Given the description of an element on the screen output the (x, y) to click on. 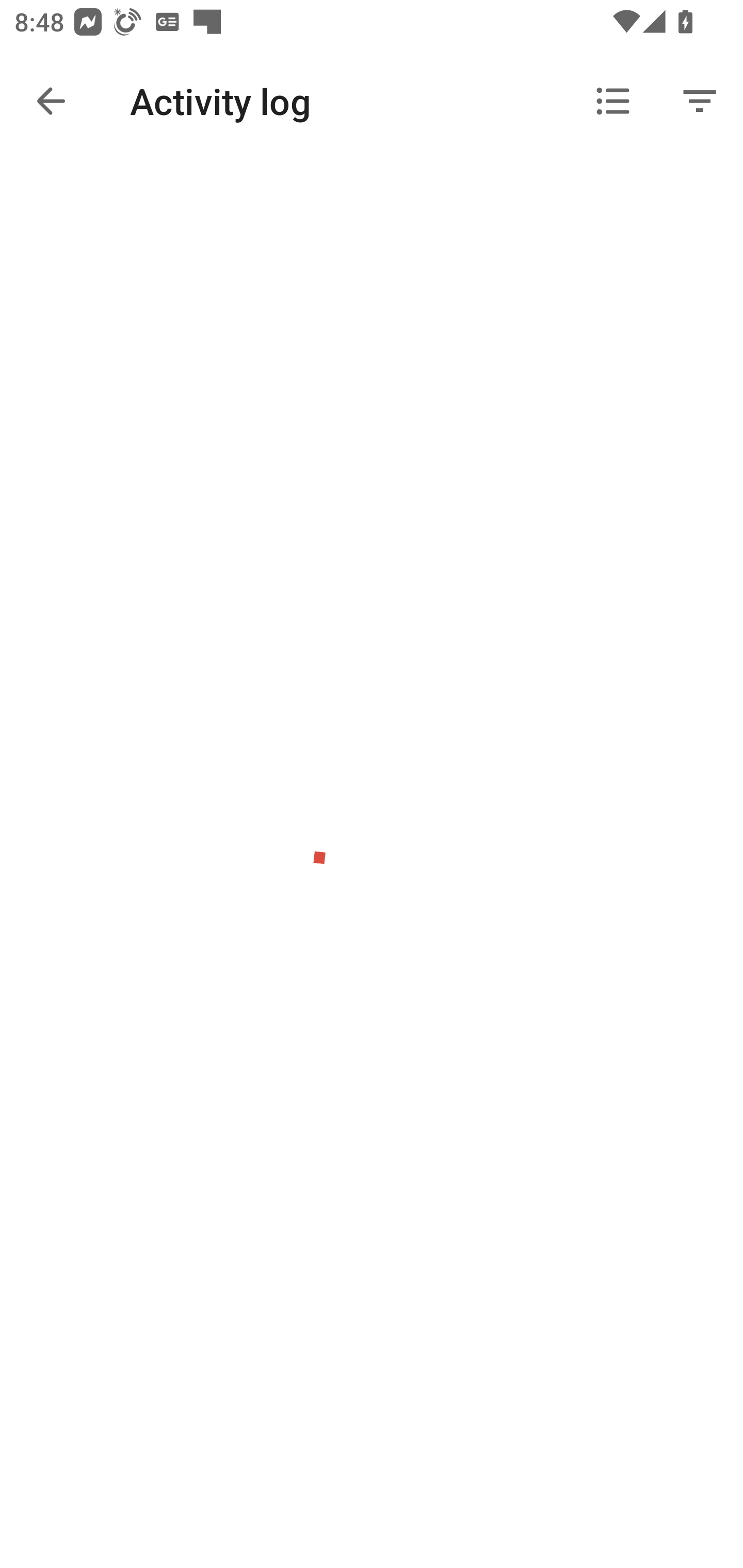
Navigate up (50, 101)
By project (612, 101)
Filter (699, 101)
